Given the description of an element on the screen output the (x, y) to click on. 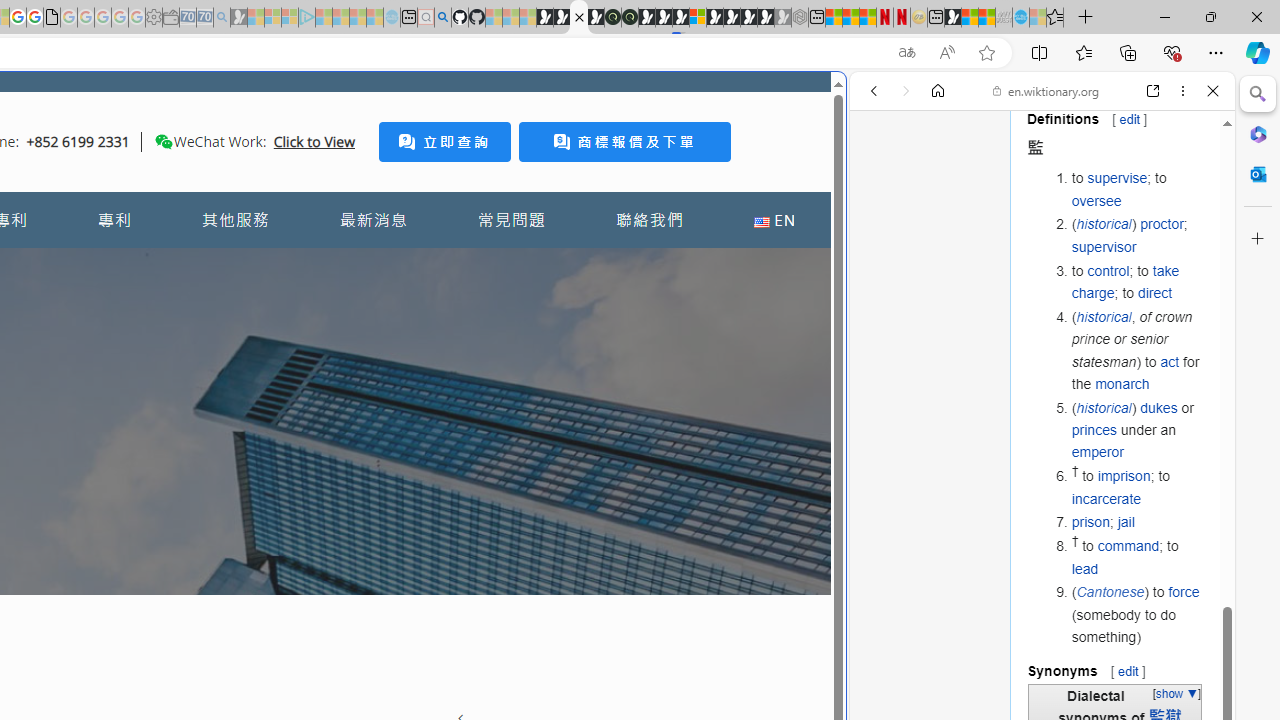
Add this page to favorites (Ctrl+D) (986, 53)
Search Filter, IMAGES (939, 228)
incarcerate (1106, 498)
lead (1085, 568)
Microsoft 365 (1258, 133)
supervisor (1103, 246)
act (1169, 361)
